Given the description of an element on the screen output the (x, y) to click on. 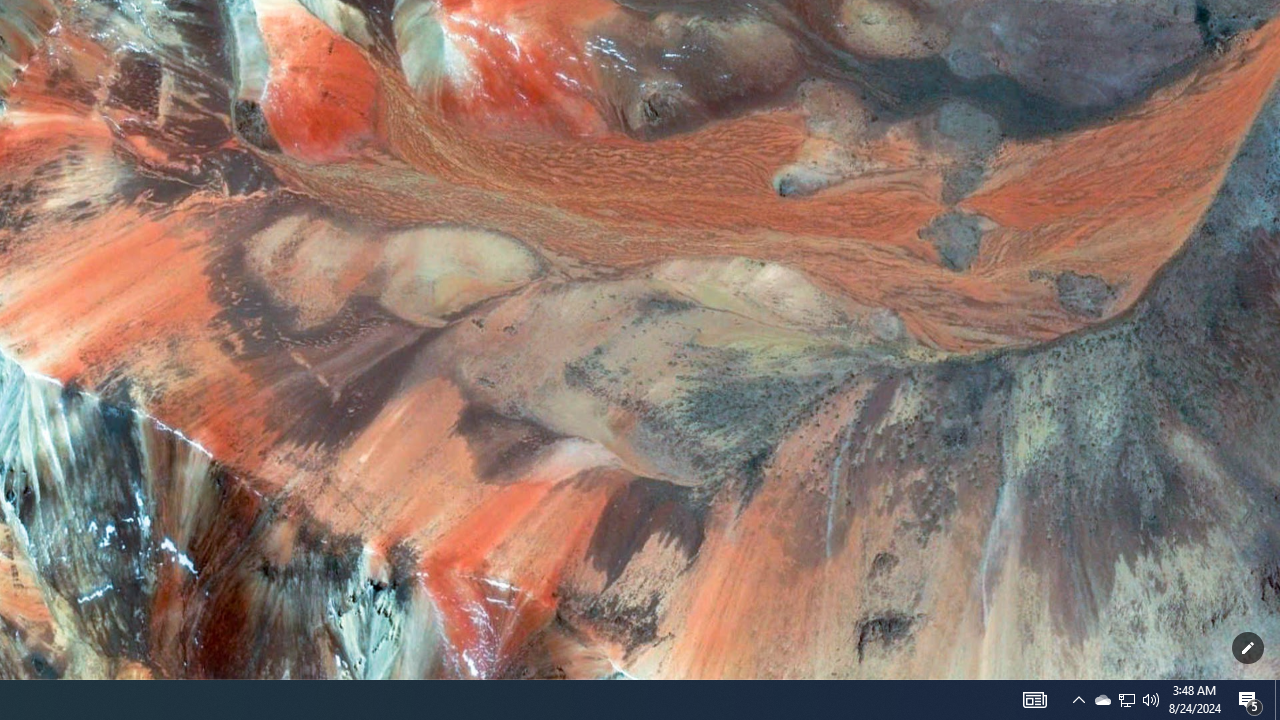
Customize this page (1247, 647)
